Given the description of an element on the screen output the (x, y) to click on. 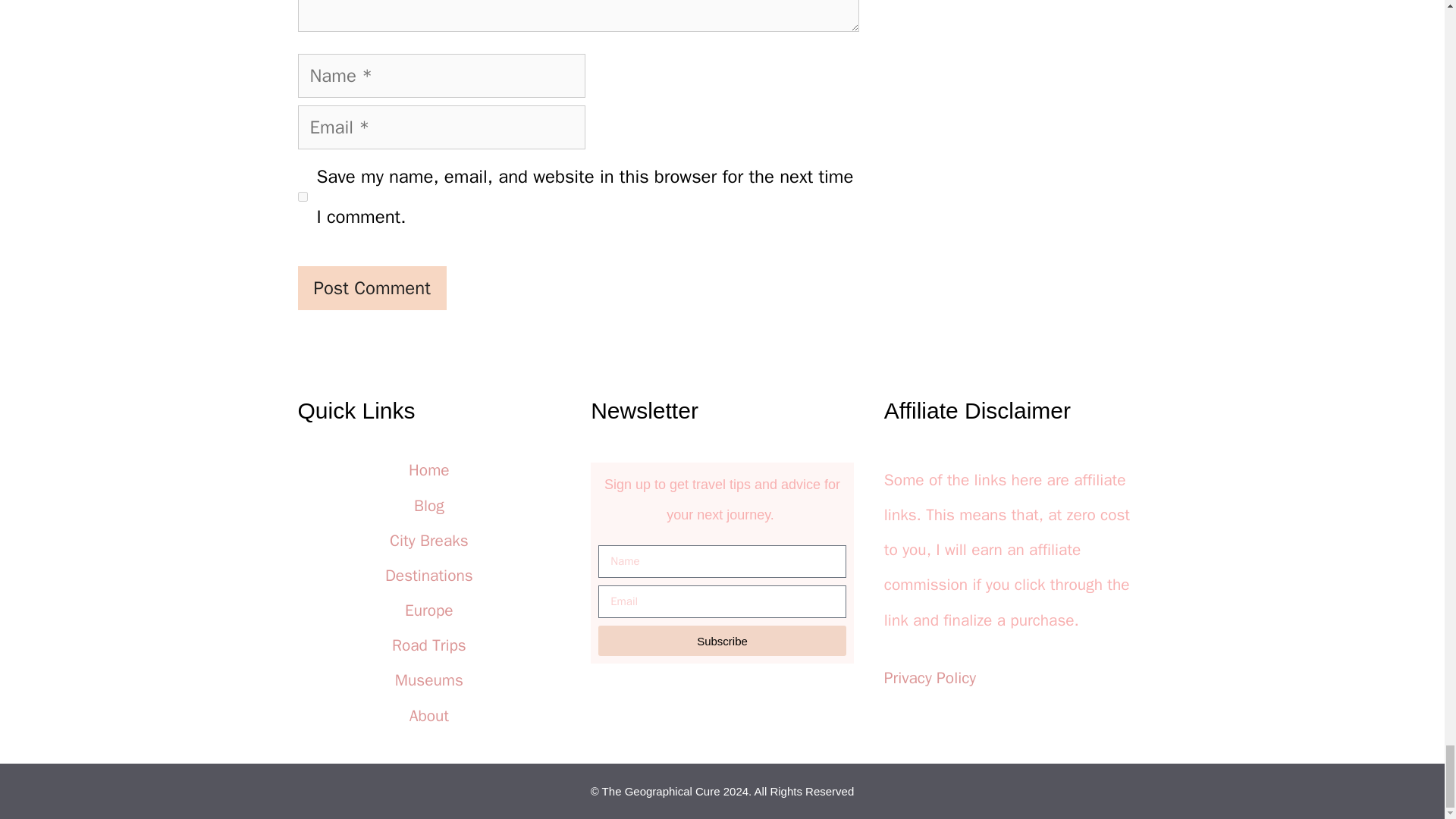
yes (302, 196)
Post Comment (371, 288)
